Given the description of an element on the screen output the (x, y) to click on. 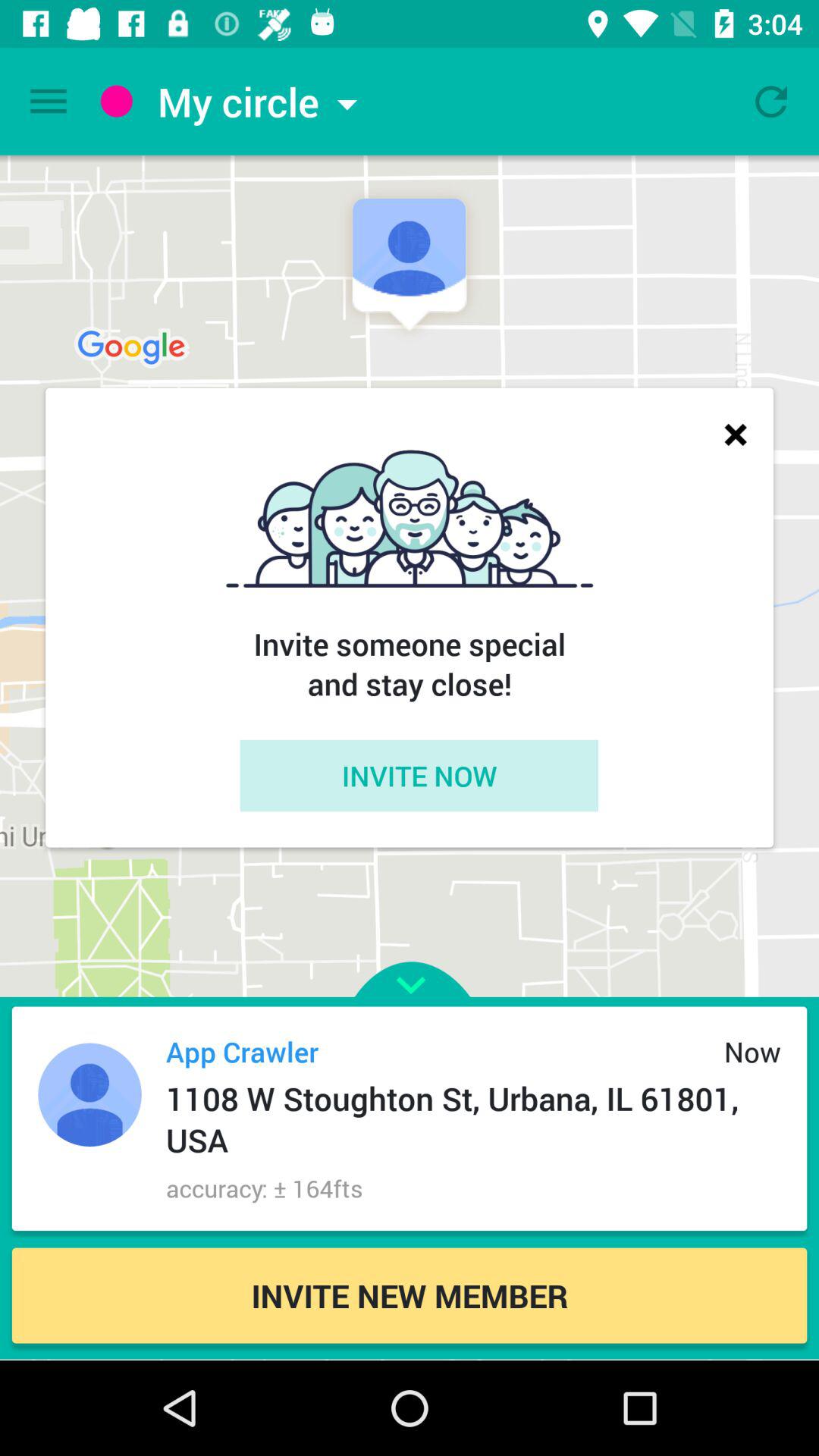
launch the invite new member item (409, 1295)
